Given the description of an element on the screen output the (x, y) to click on. 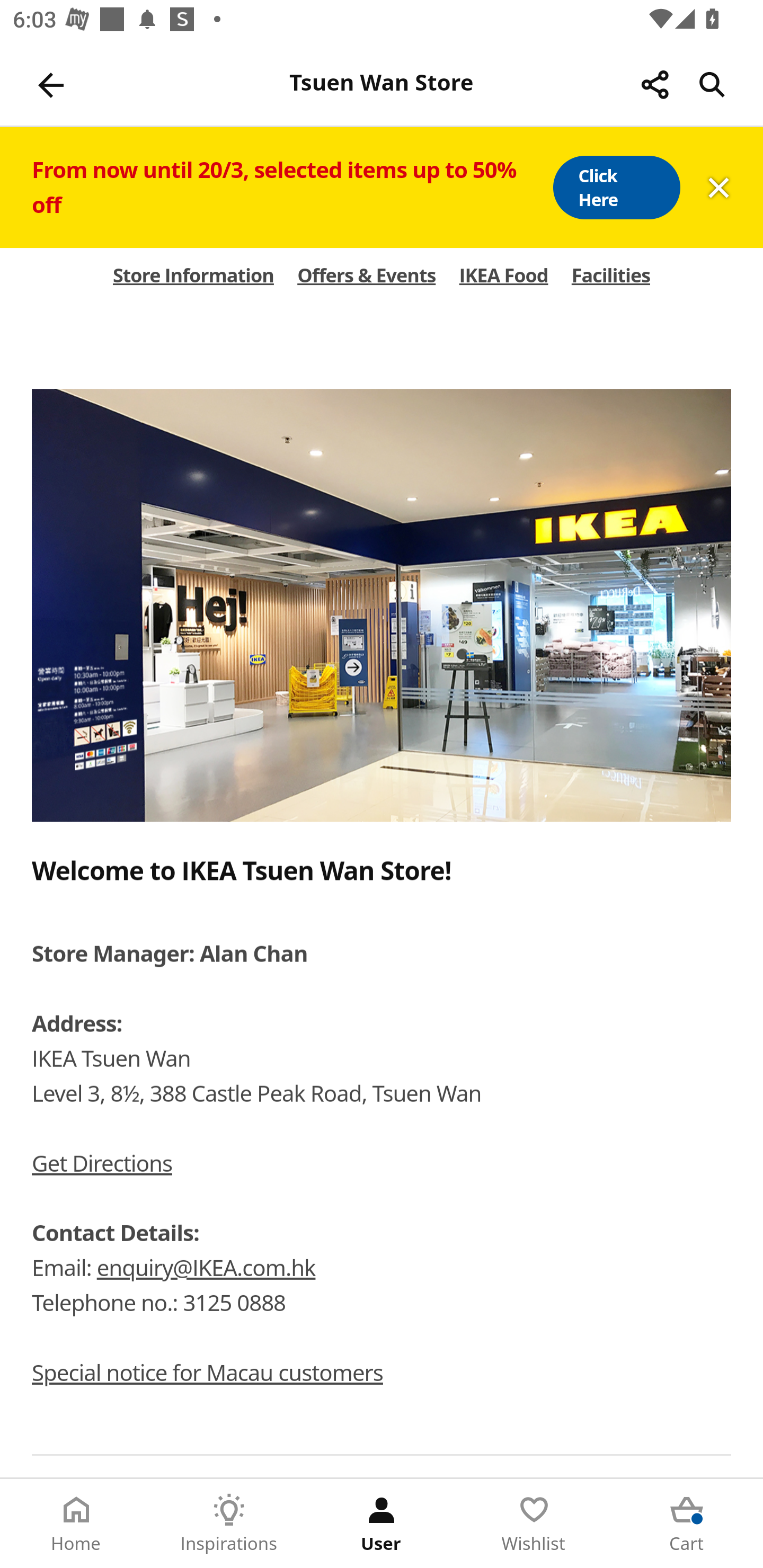
Click Here (615, 187)
Store Information (192, 274)
Offers & Events (367, 274)
IKEA Food (502, 274)
Facilities (610, 274)
Get Directions (102, 1163)
enquiry@IKEA.com.hk (205, 1268)
Special notice for Macau customers (207, 1373)
Home
Tab 1 of 5 (76, 1522)
Inspirations
Tab 2 of 5 (228, 1522)
User
Tab 3 of 5 (381, 1522)
Wishlist
Tab 4 of 5 (533, 1522)
Cart
Tab 5 of 5 (686, 1522)
